Given the description of an element on the screen output the (x, y) to click on. 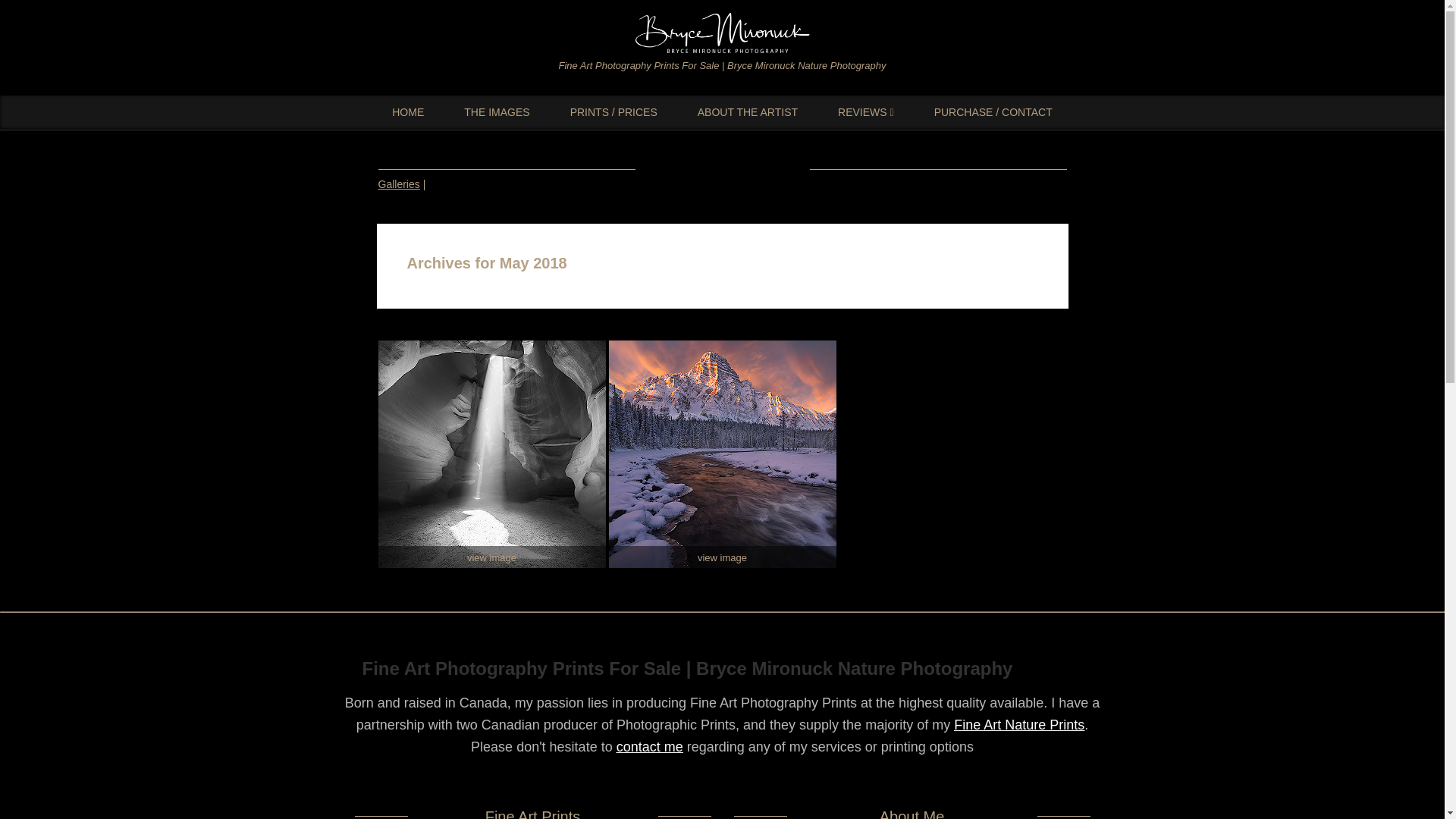
THE IMAGES (496, 112)
HOME (408, 112)
Fine Art Nature Prints (1018, 724)
ABOUT THE ARTIST (747, 112)
Galleries (398, 184)
contact me (648, 746)
